Given the description of an element on the screen output the (x, y) to click on. 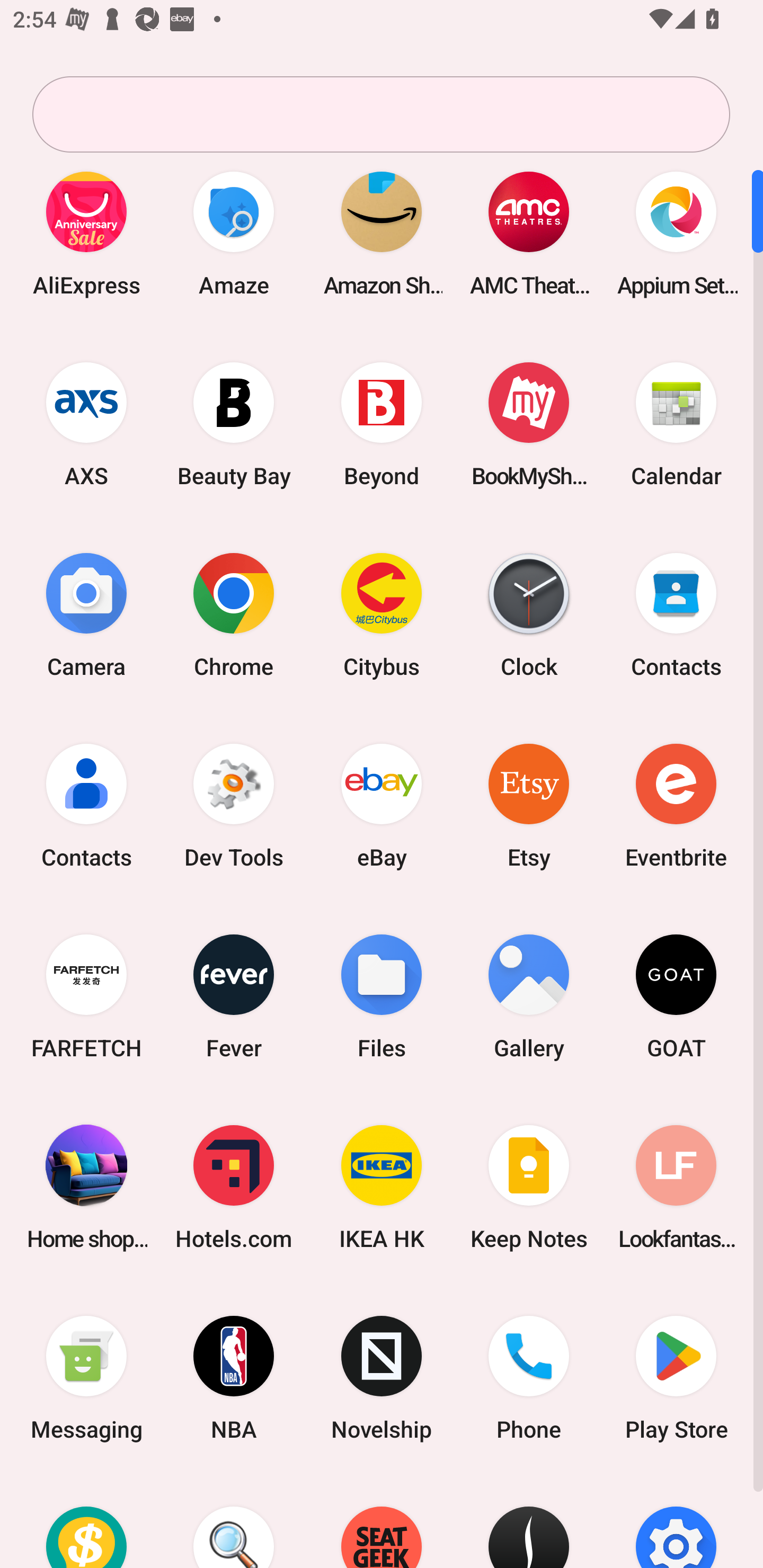
  Search apps (381, 114)
AliExpress (86, 233)
Amaze (233, 233)
Amazon Shopping (381, 233)
AMC Theatres (528, 233)
Appium Settings (676, 233)
AXS (86, 424)
Beauty Bay (233, 424)
Beyond (381, 424)
BookMyShow (528, 424)
Calendar (676, 424)
Camera (86, 614)
Chrome (233, 614)
Citybus (381, 614)
Clock (528, 614)
Contacts (676, 614)
Contacts (86, 805)
Dev Tools (233, 805)
eBay (381, 805)
Etsy (528, 805)
Eventbrite (676, 805)
FARFETCH (86, 996)
Fever (233, 996)
Files (381, 996)
Gallery (528, 996)
GOAT (676, 996)
Home shopping (86, 1186)
Hotels.com (233, 1186)
IKEA HK (381, 1186)
Keep Notes (528, 1186)
Lookfantastic (676, 1186)
Messaging (86, 1377)
NBA (233, 1377)
Novelship (381, 1377)
Phone (528, 1377)
Play Store (676, 1377)
